Given the description of an element on the screen output the (x, y) to click on. 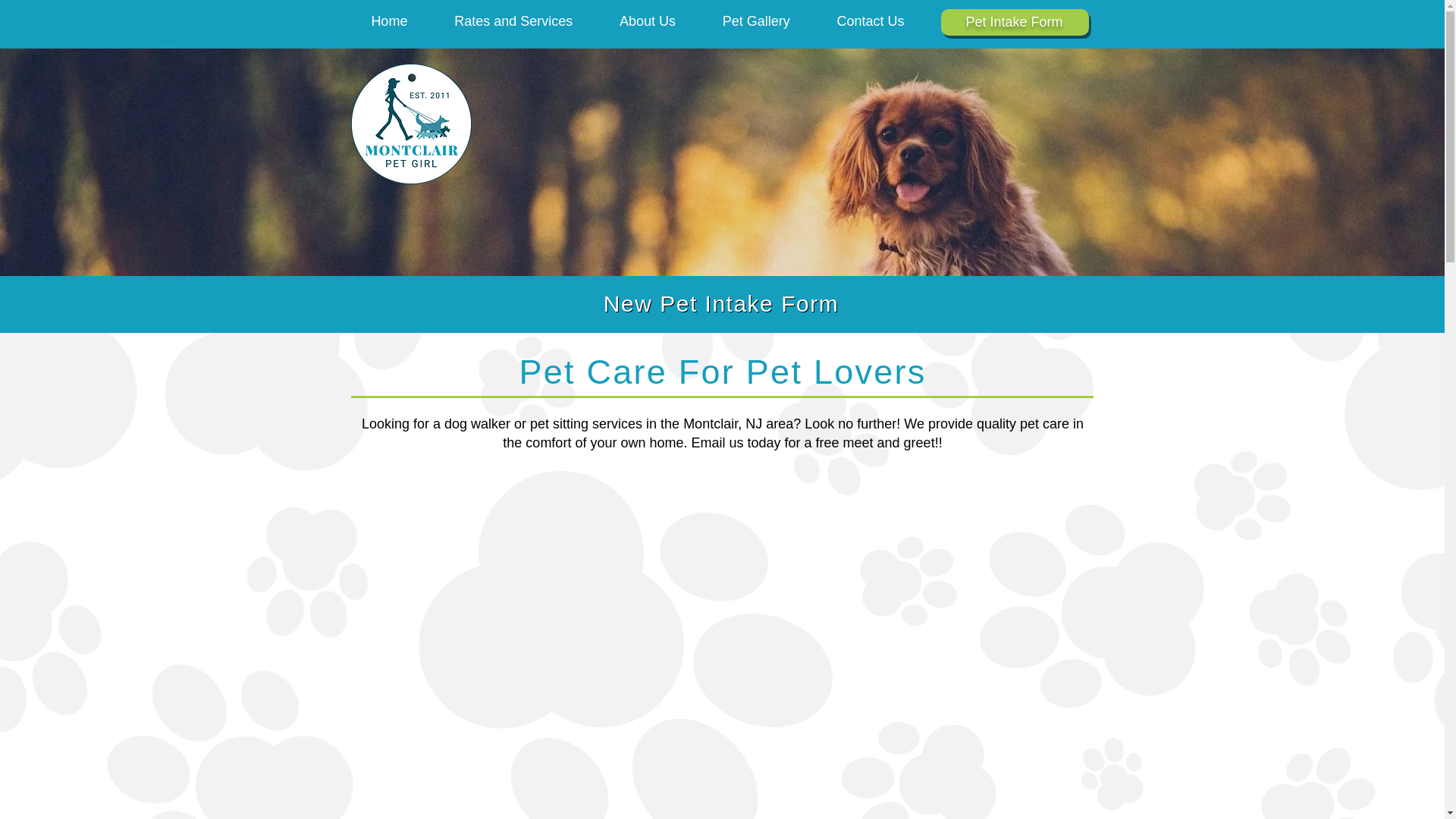
Contact Us (870, 21)
About Us (646, 21)
Pet Intake Form (1013, 21)
Pet Gallery (755, 21)
Rates and Services (512, 21)
Home (389, 21)
